Given the description of an element on the screen output the (x, y) to click on. 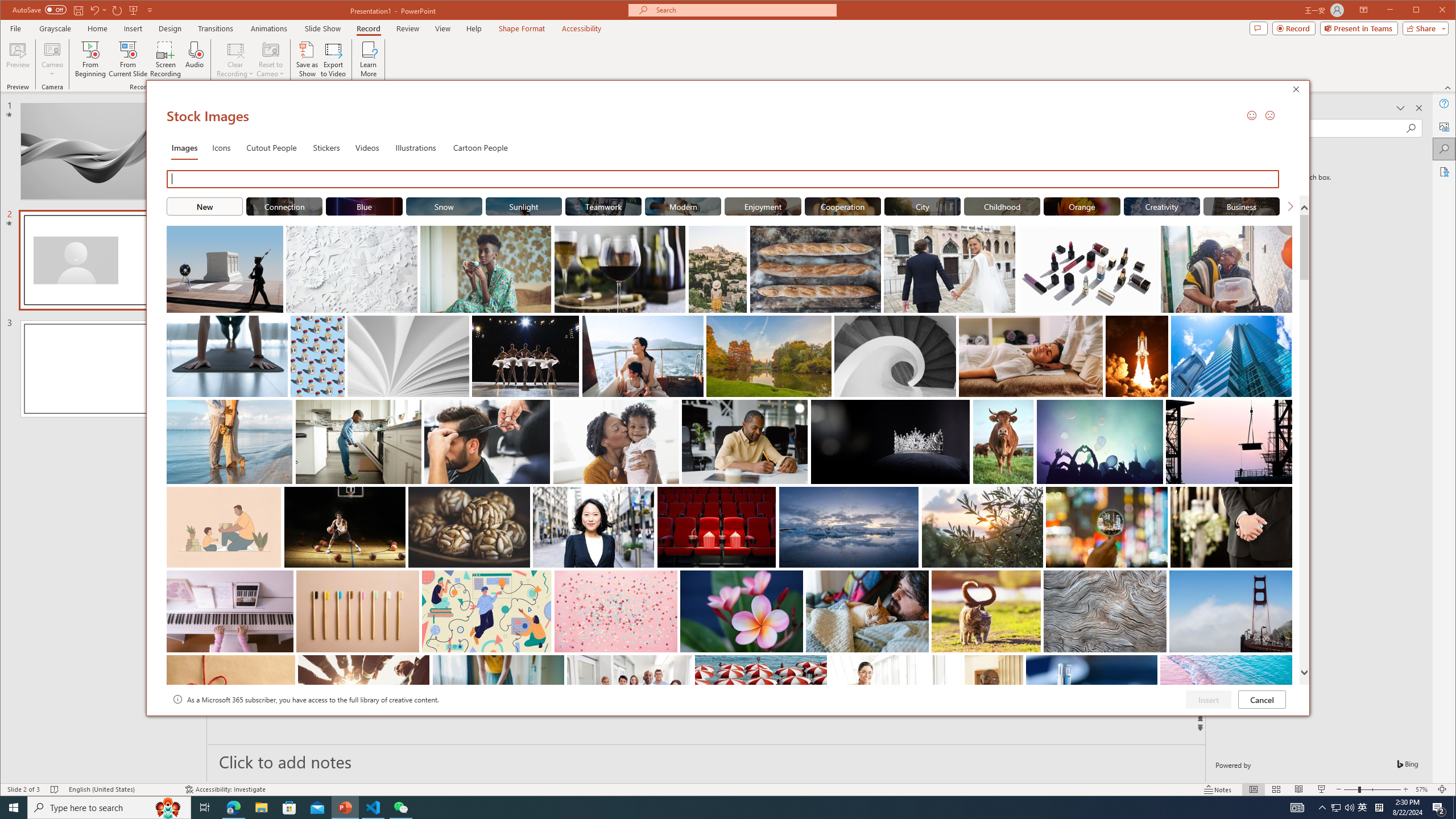
"Childhood" Stock Images. (1001, 206)
Zoom 57% (1422, 789)
Running applications (707, 807)
Alt Text (1444, 125)
